Given the description of an element on the screen output the (x, y) to click on. 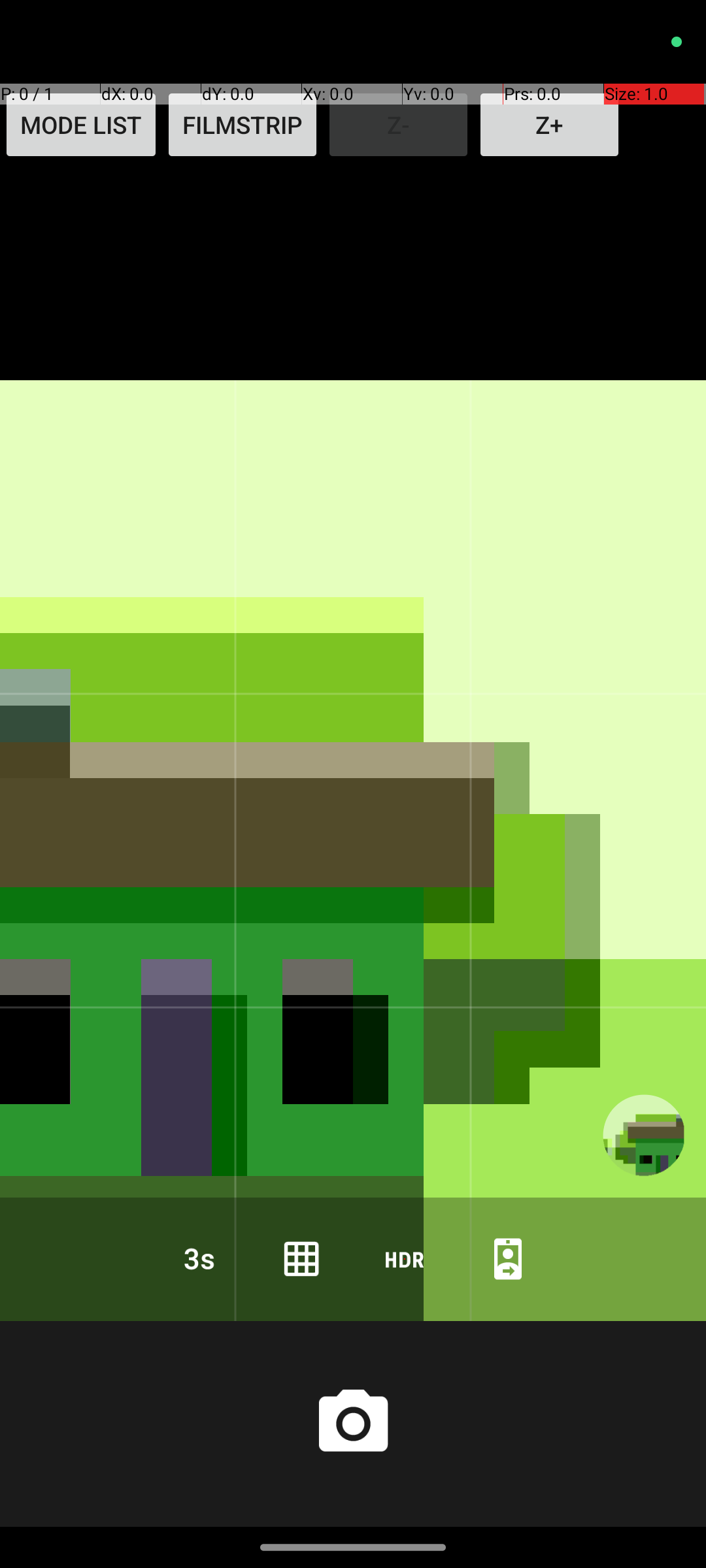
Grid lines on Element type: android.widget.ImageButton (301, 1258)
HDR on Element type: android.widget.ImageButton (404, 1258)
Front camera Element type: android.widget.ImageButton (507, 1258)
